Given the description of an element on the screen output the (x, y) to click on. 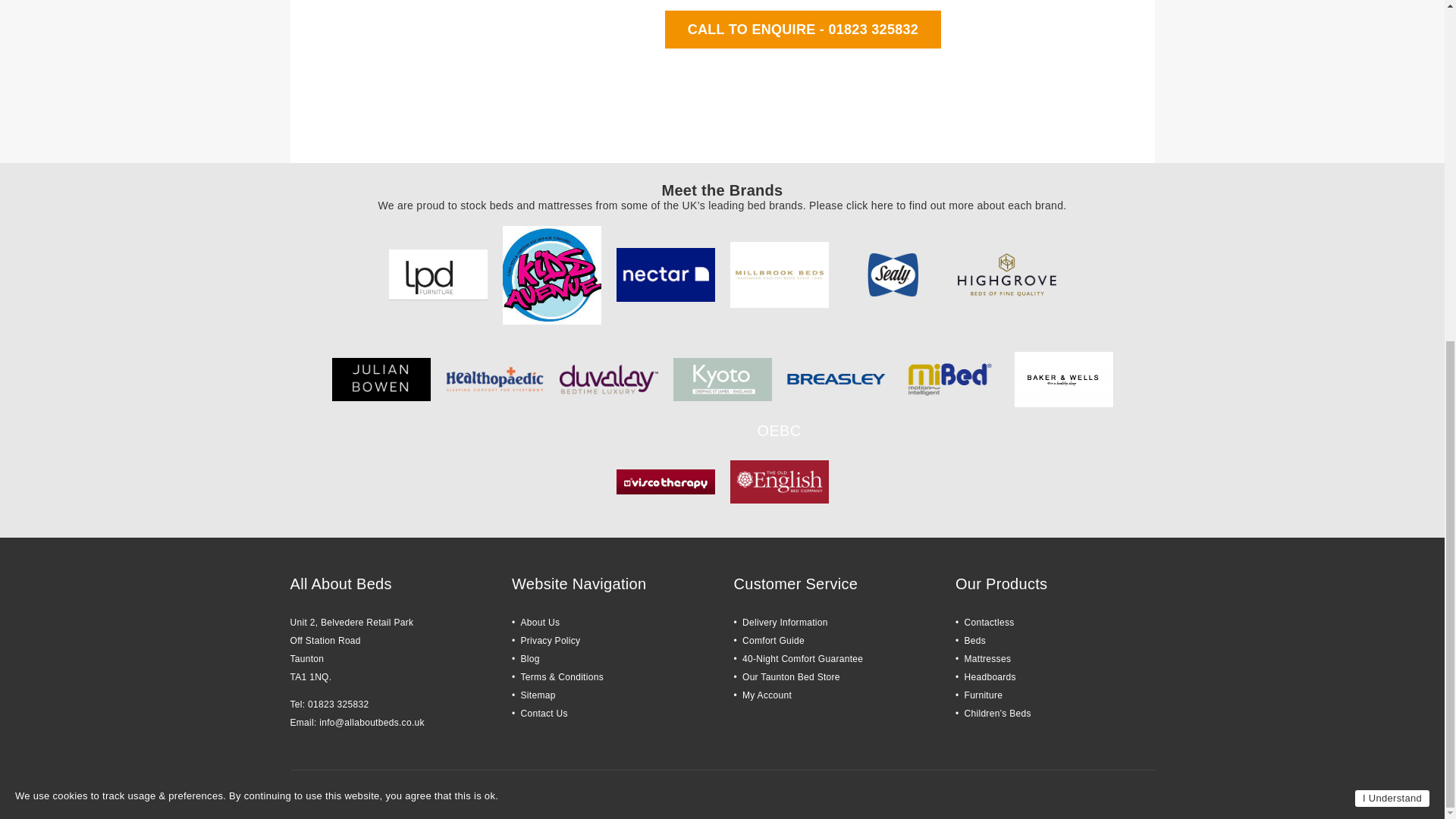
I Understand (1392, 218)
PayPal Message 1 (894, 57)
